Given the description of an element on the screen output the (x, y) to click on. 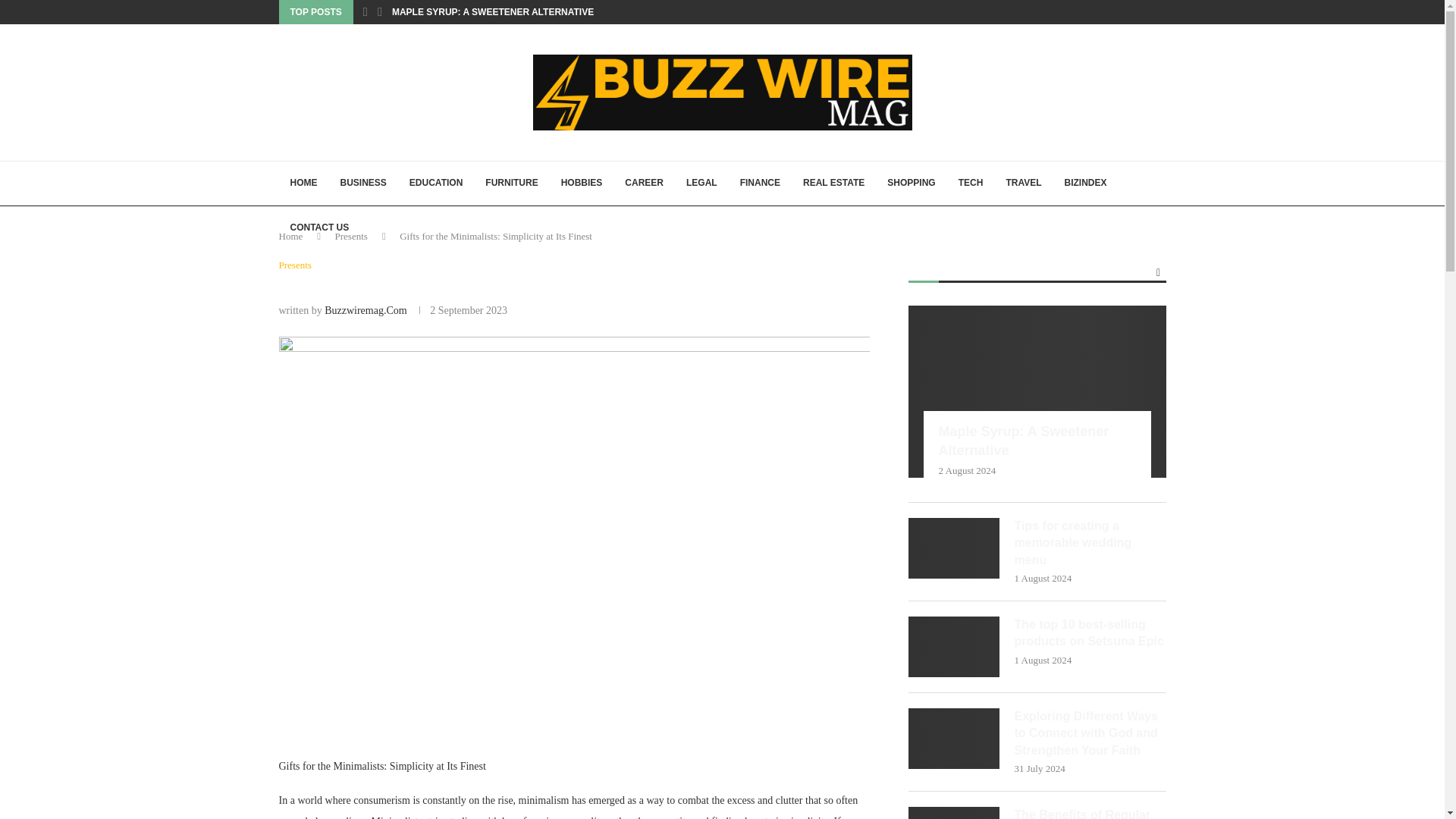
Presents (351, 235)
BIZINDEX (1085, 183)
HOME (304, 183)
Buzzwiremag.Com (365, 310)
Maple Syrup: A Sweetener Alternative (1037, 391)
TECH (970, 183)
REAL ESTATE (834, 183)
FURNITURE (511, 183)
SHOPPING (911, 183)
CONTACT US (320, 227)
